Given the description of an element on the screen output the (x, y) to click on. 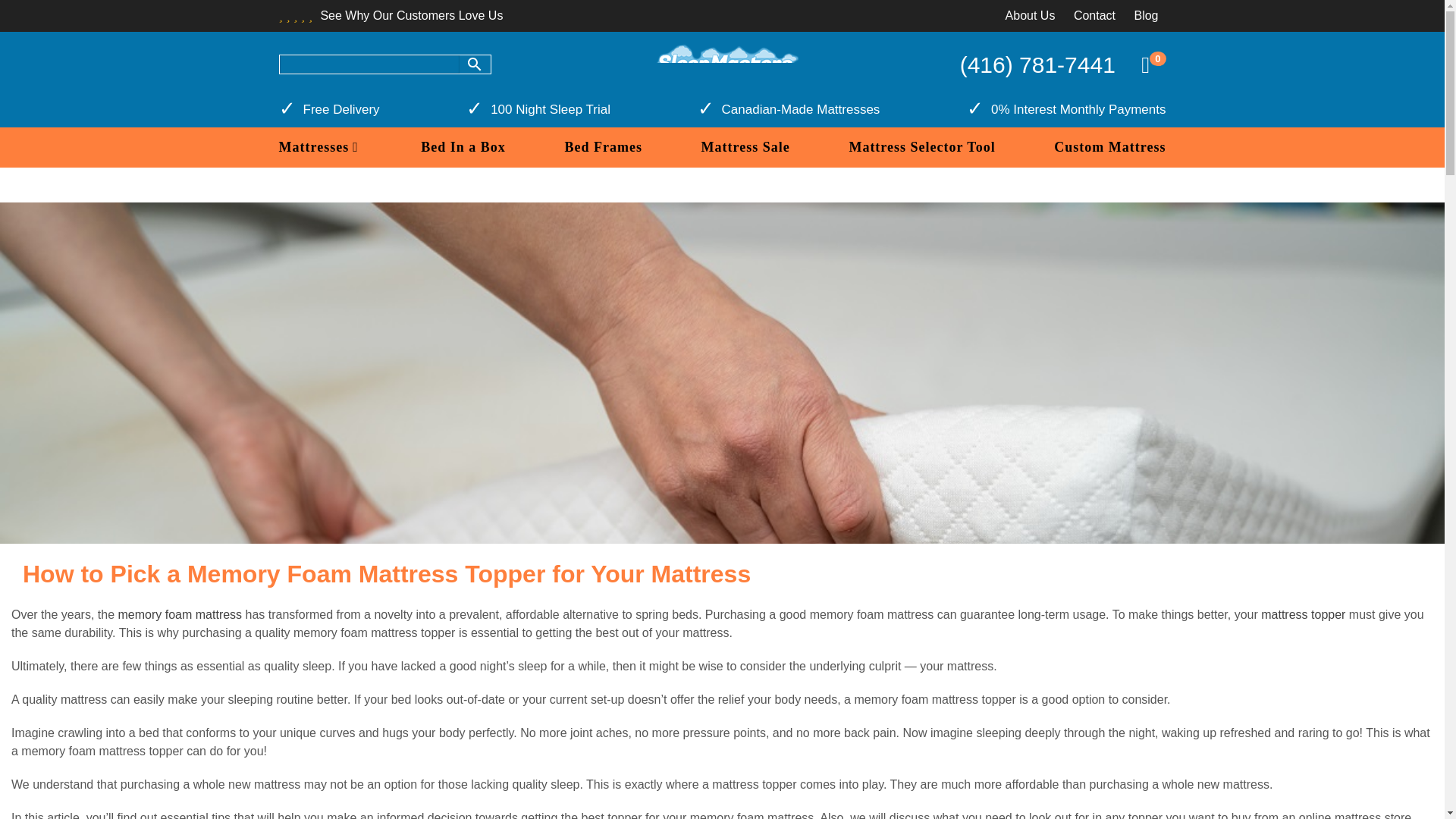
Bed In a Box (462, 147)
About Us (1030, 15)
Mattress Selector Tool (921, 147)
Mattress Sale (745, 147)
Mattresses (320, 147)
Bed Frames (603, 147)
Custom Mattress (1110, 147)
See Why Our Customers Love Us (391, 15)
Call Us Now! (1037, 63)
Blog (1145, 15)
Contact (1094, 15)
